Given the description of an element on the screen output the (x, y) to click on. 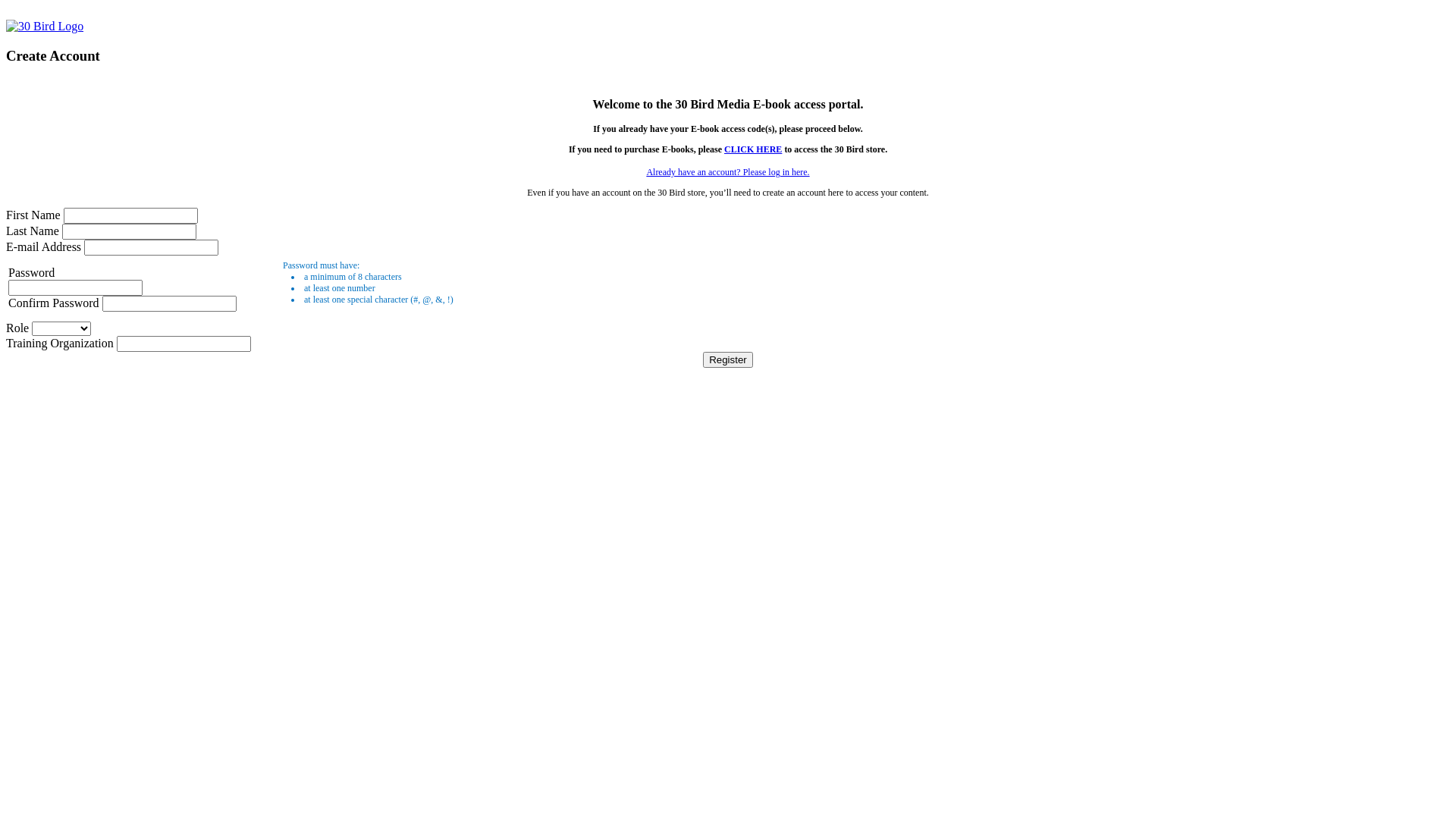
CLICK HERE Element type: text (752, 149)
Already have an account? Please log in here. Element type: text (727, 171)
Register Element type: text (727, 359)
